Given the description of an element on the screen output the (x, y) to click on. 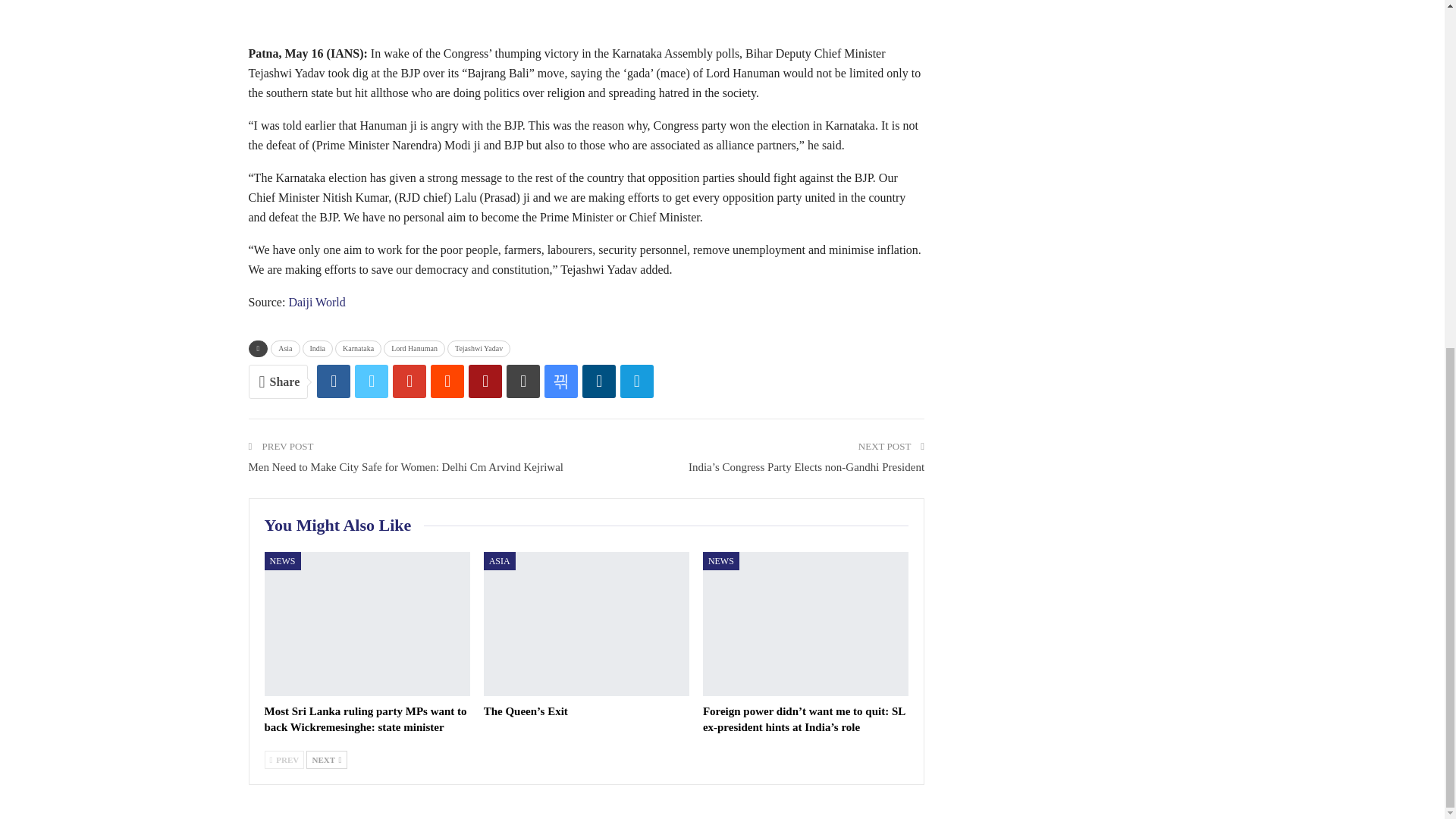
Previous (283, 760)
Next (325, 760)
